Given the description of an element on the screen output the (x, y) to click on. 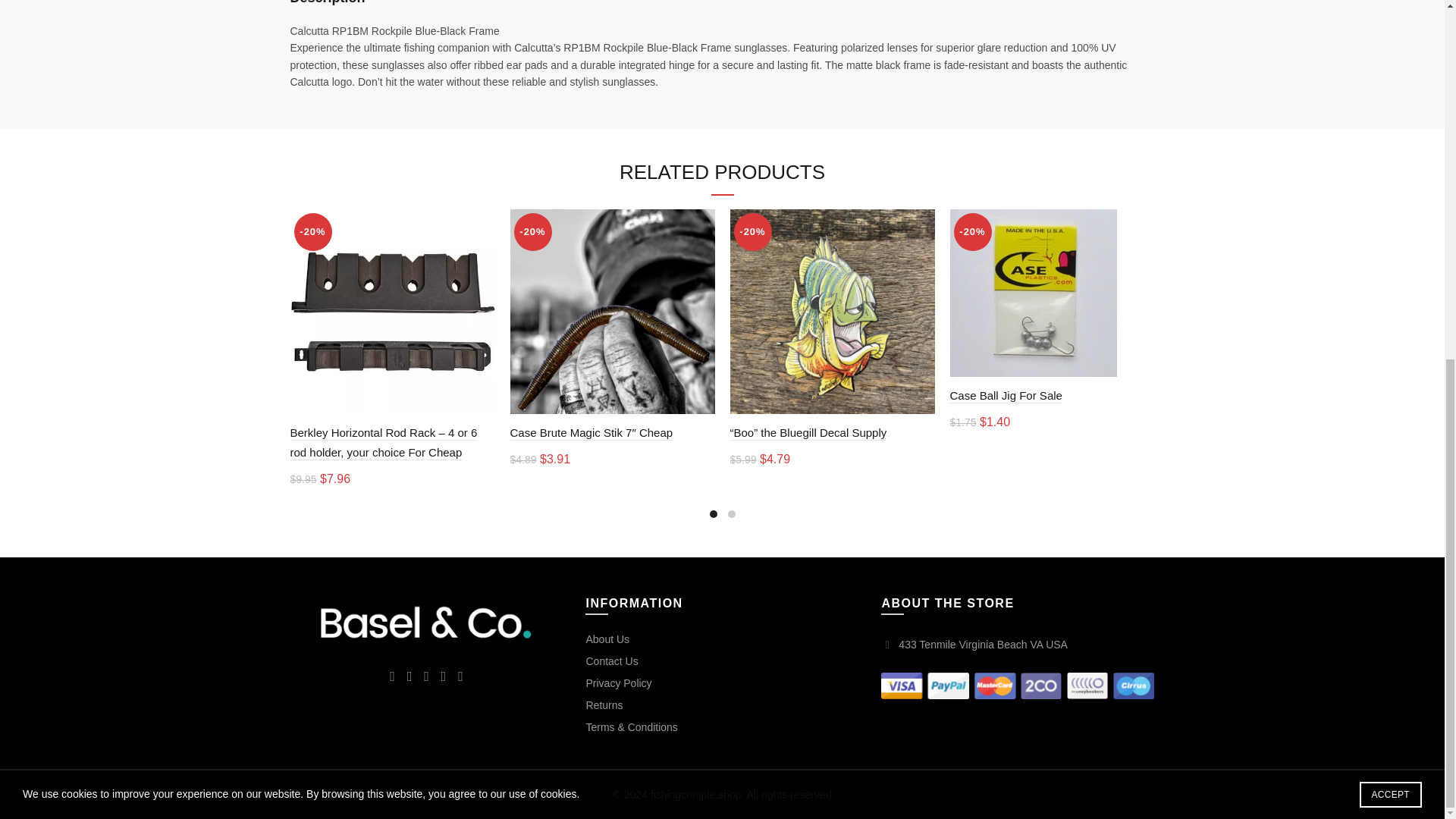
Basel and Co. (426, 622)
